Given the description of an element on the screen output the (x, y) to click on. 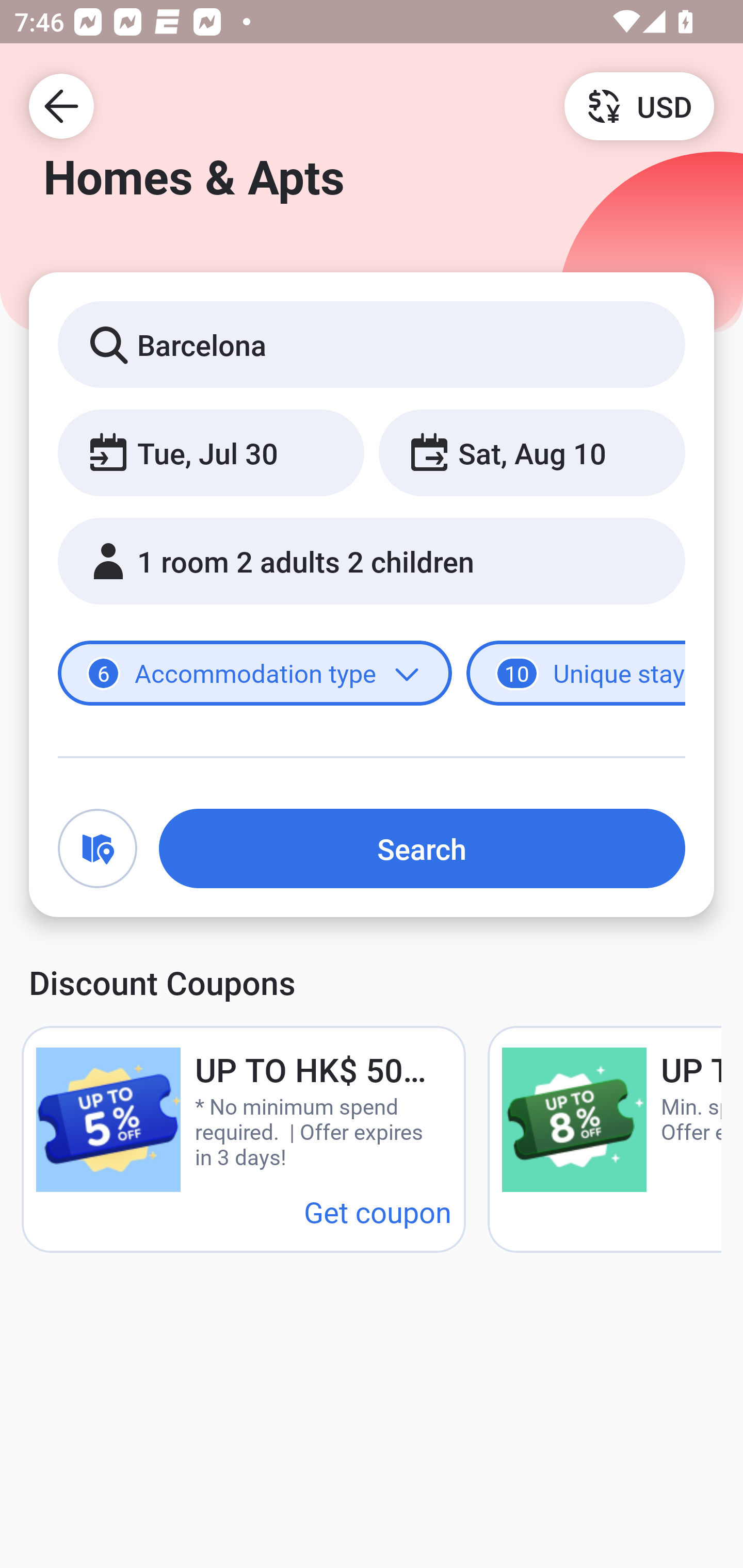
USD (639, 105)
Barcelona (371, 344)
Tue, Jul 30 (210, 452)
Sat, Aug 10 (531, 452)
1 room 2 adults 2 children (371, 561)
6 Accommodation type (254, 673)
10 Unique stays (575, 673)
Search (422, 848)
Get coupon (377, 1211)
